Given the description of an element on the screen output the (x, y) to click on. 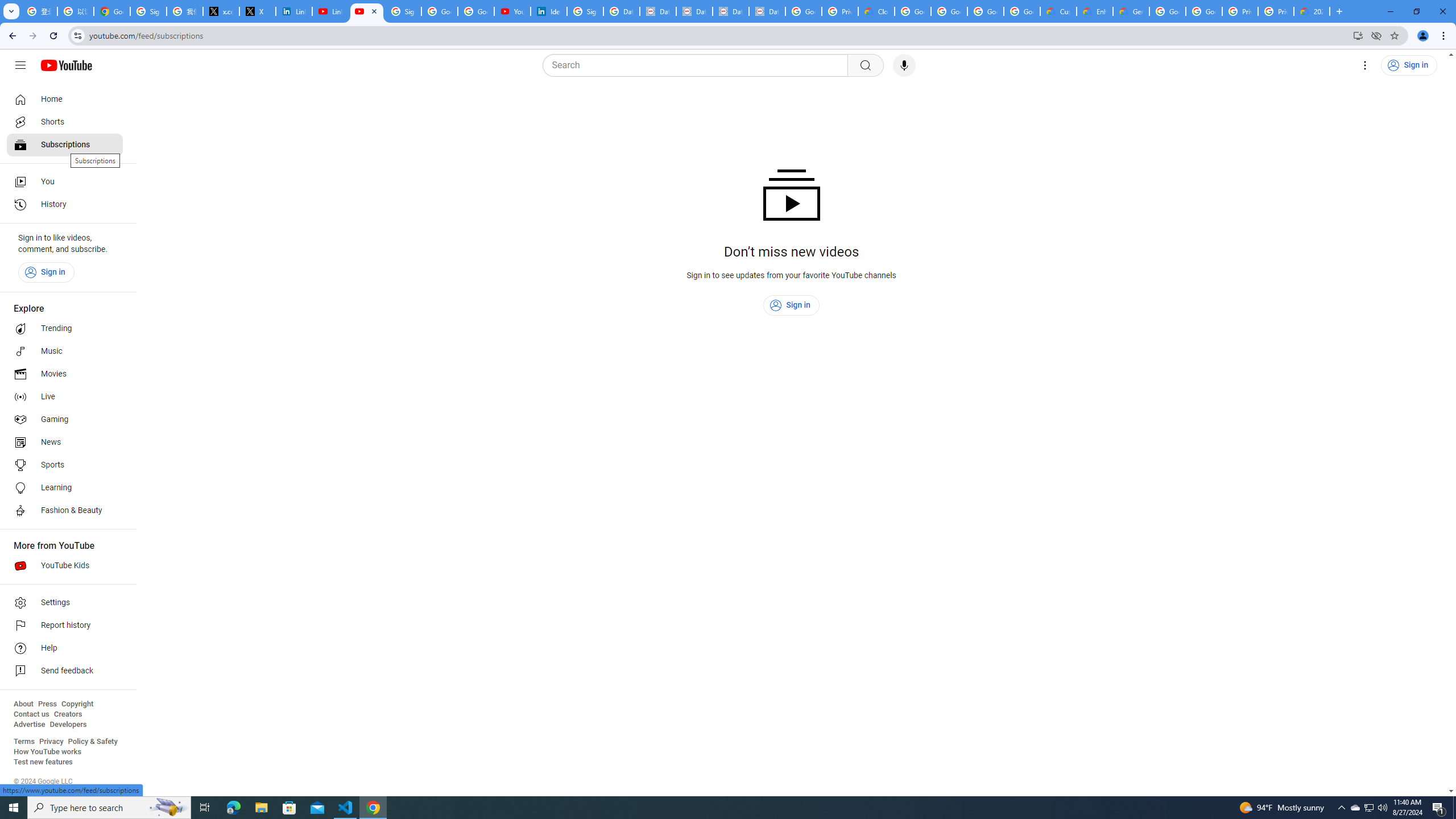
Copyright (77, 703)
